Given the description of an element on the screen output the (x, y) to click on. 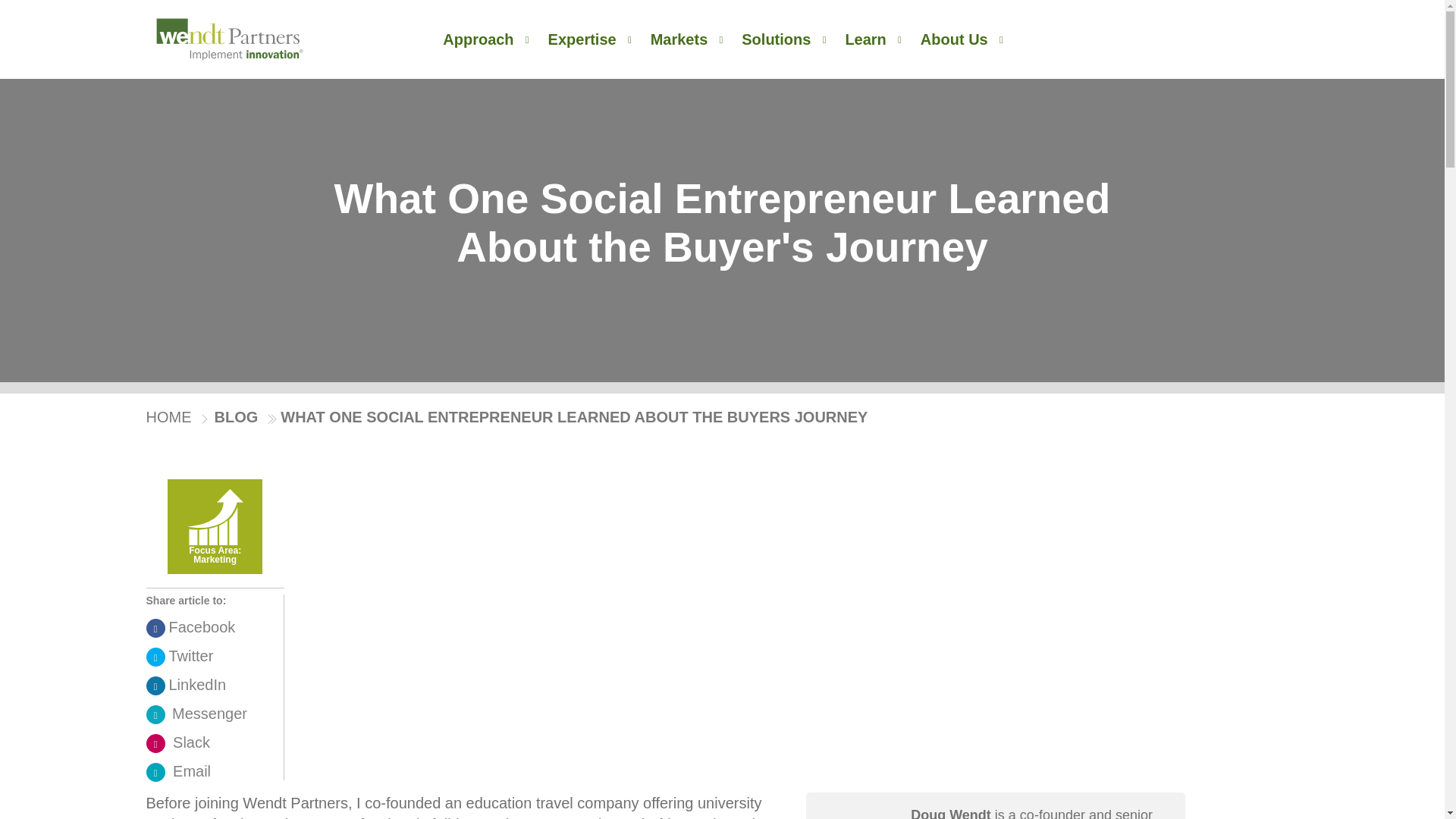
Approach (485, 38)
Learn (872, 38)
Wendt Partners logo (229, 39)
About Us (961, 38)
Solutions (783, 38)
Expertise (589, 38)
Markets (686, 38)
